Given the description of an element on the screen output the (x, y) to click on. 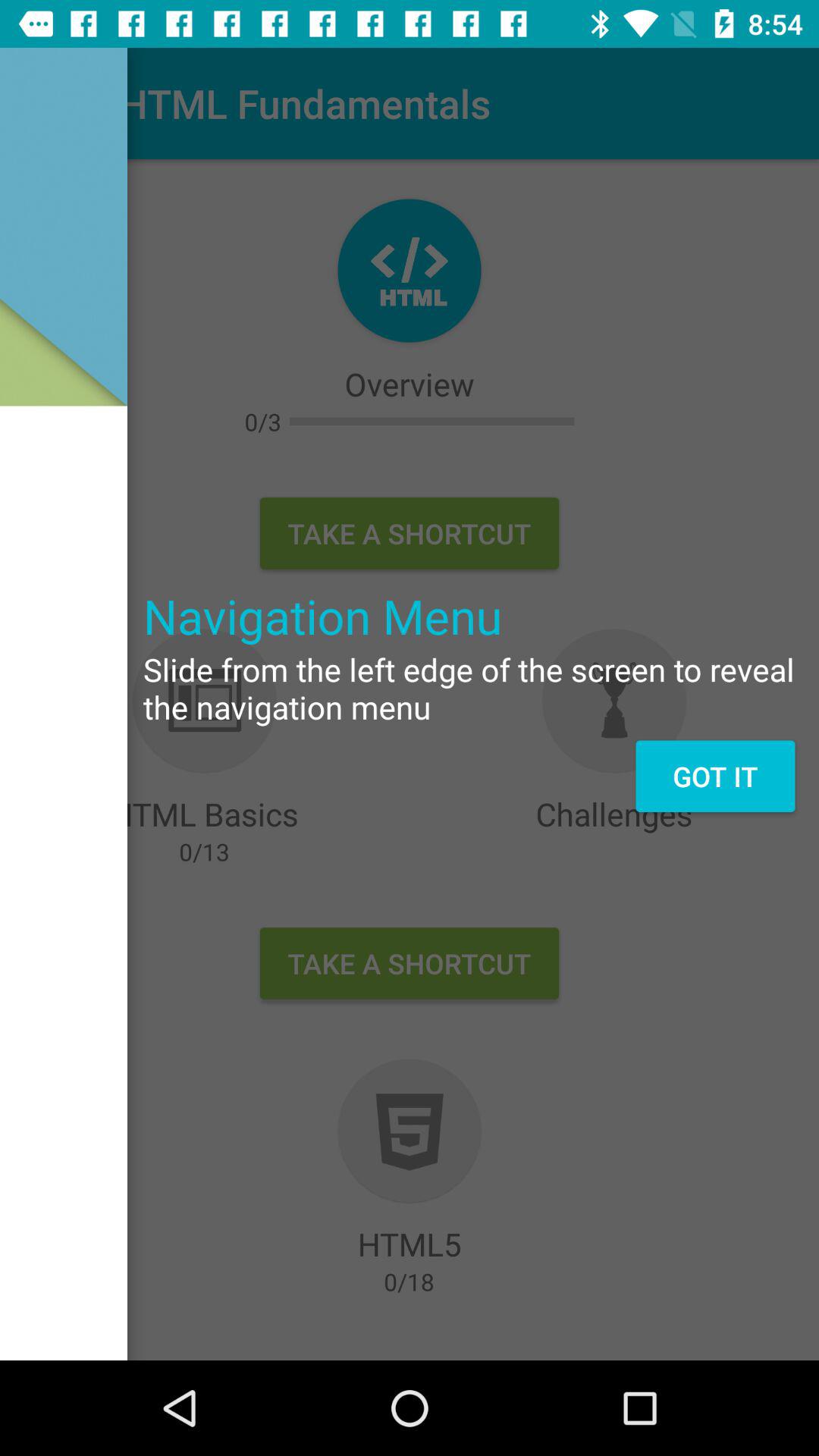
jump until got it (715, 776)
